Given the description of an element on the screen output the (x, y) to click on. 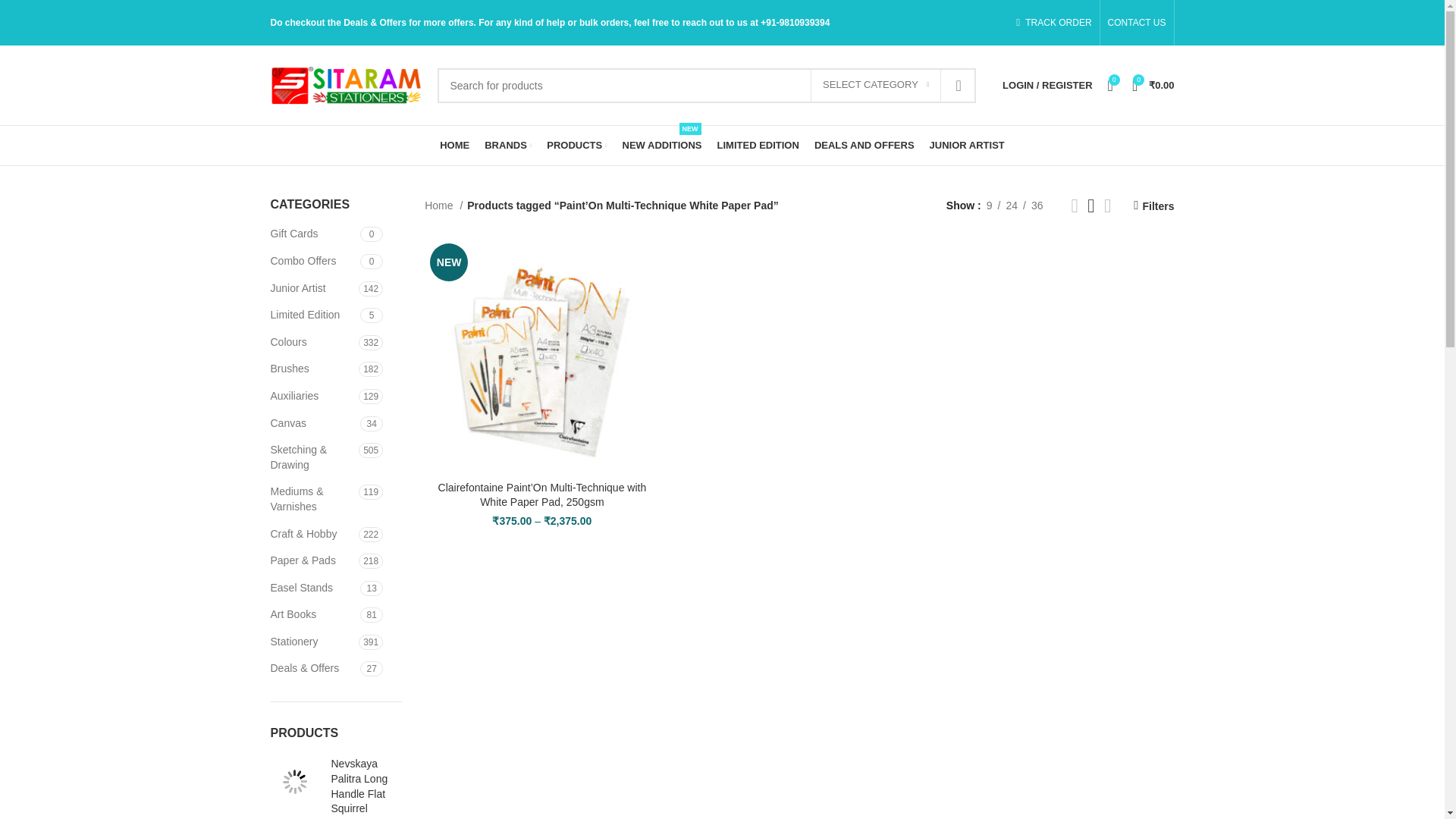
Search for products (705, 85)
TRACK ORDER (1053, 22)
CONTACT US (1137, 22)
SELECT CATEGORY (875, 85)
Shopping cart (1153, 84)
SELECT CATEGORY (875, 85)
My account (1046, 84)
